Given the description of an element on the screen output the (x, y) to click on. 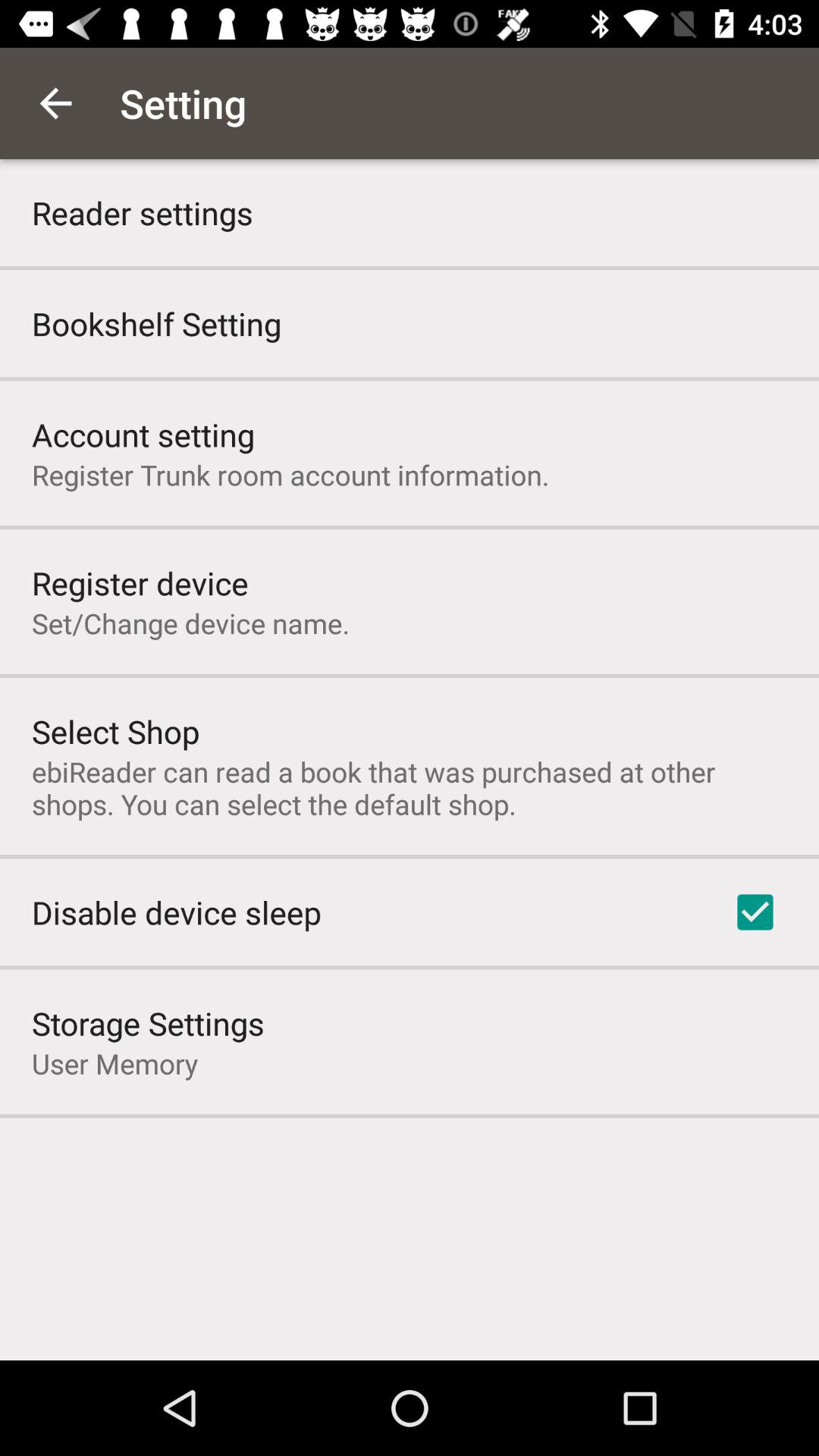
tap the icon above register device (290, 474)
